Given the description of an element on the screen output the (x, y) to click on. 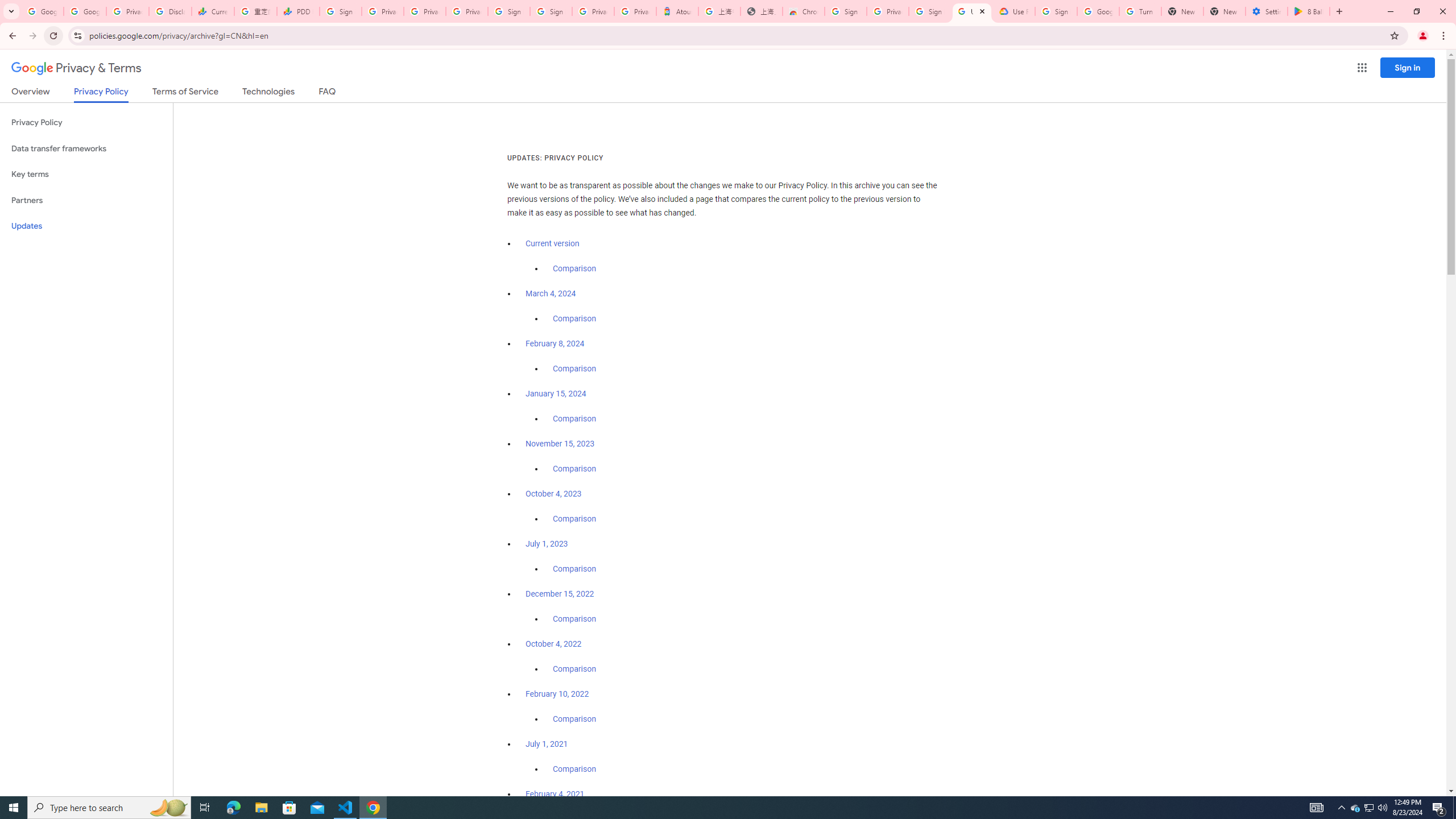
Chrome Web Store - Color themes by Chrome (803, 11)
February 10, 2022 (557, 693)
Atour Hotel - Google hotels (676, 11)
Sign in - Google Accounts (845, 11)
December 15, 2022 (559, 593)
October 4, 2022 (553, 643)
